Given the description of an element on the screen output the (x, y) to click on. 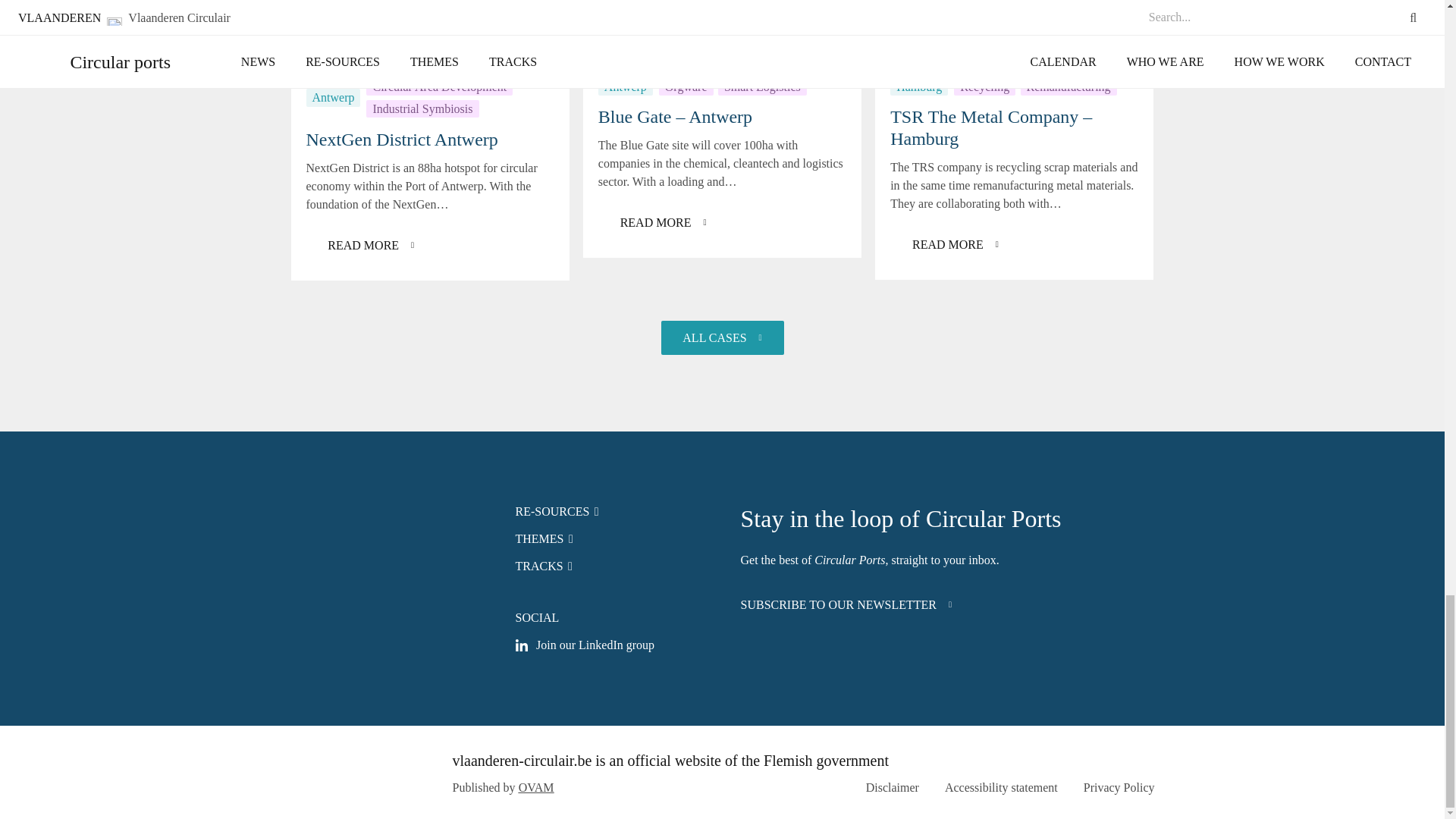
Cases (722, 337)
Industrial Symbiosis (422, 108)
Antwerp (333, 97)
Circular Area Development (439, 86)
